Given the description of an element on the screen output the (x, y) to click on. 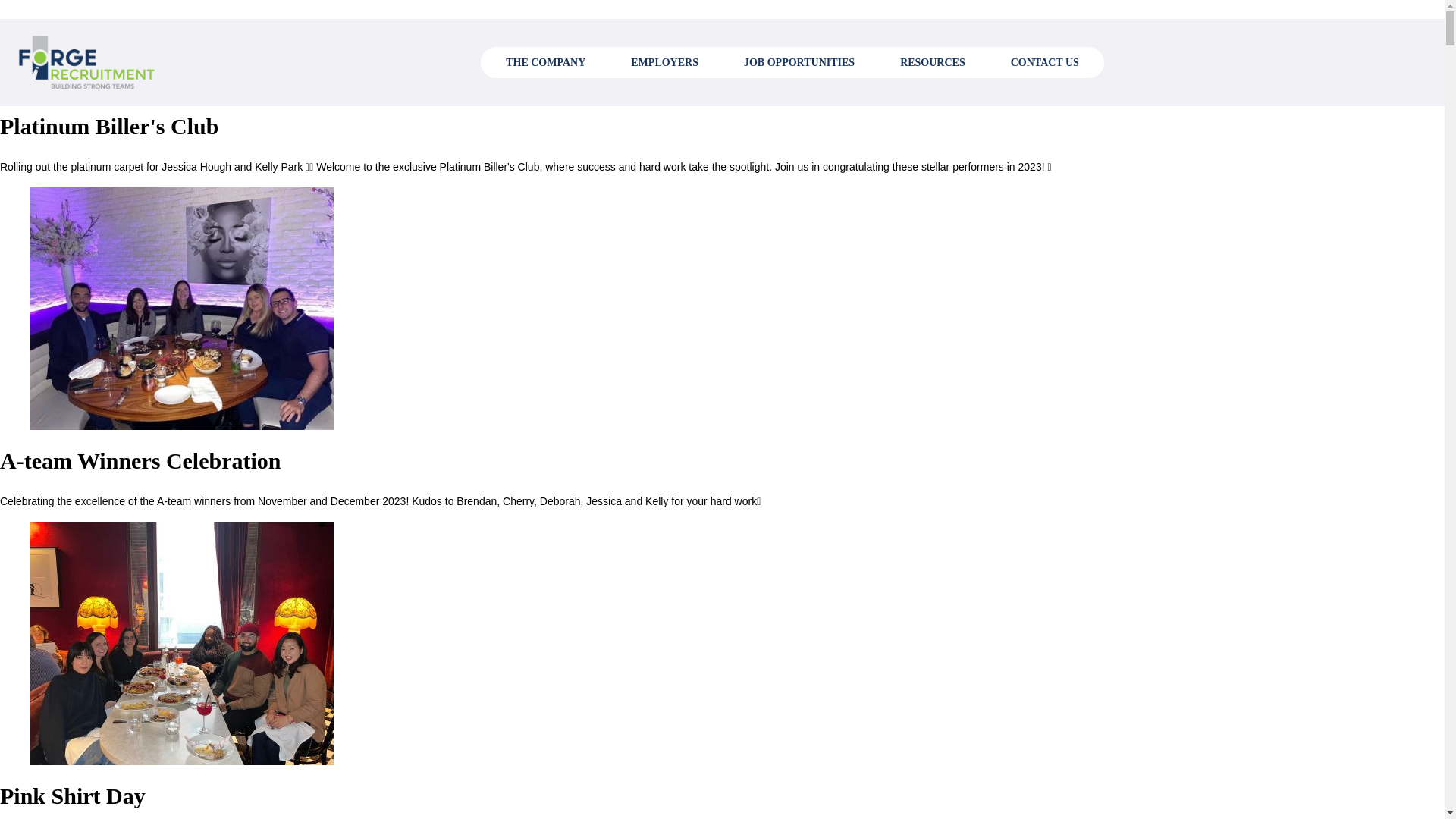
CONTACT US (1045, 62)
JOB OPPORTUNITIES (798, 62)
EMPLOYERS (664, 62)
RESOURCES (932, 62)
THE COMPANY (545, 62)
